Given the description of an element on the screen output the (x, y) to click on. 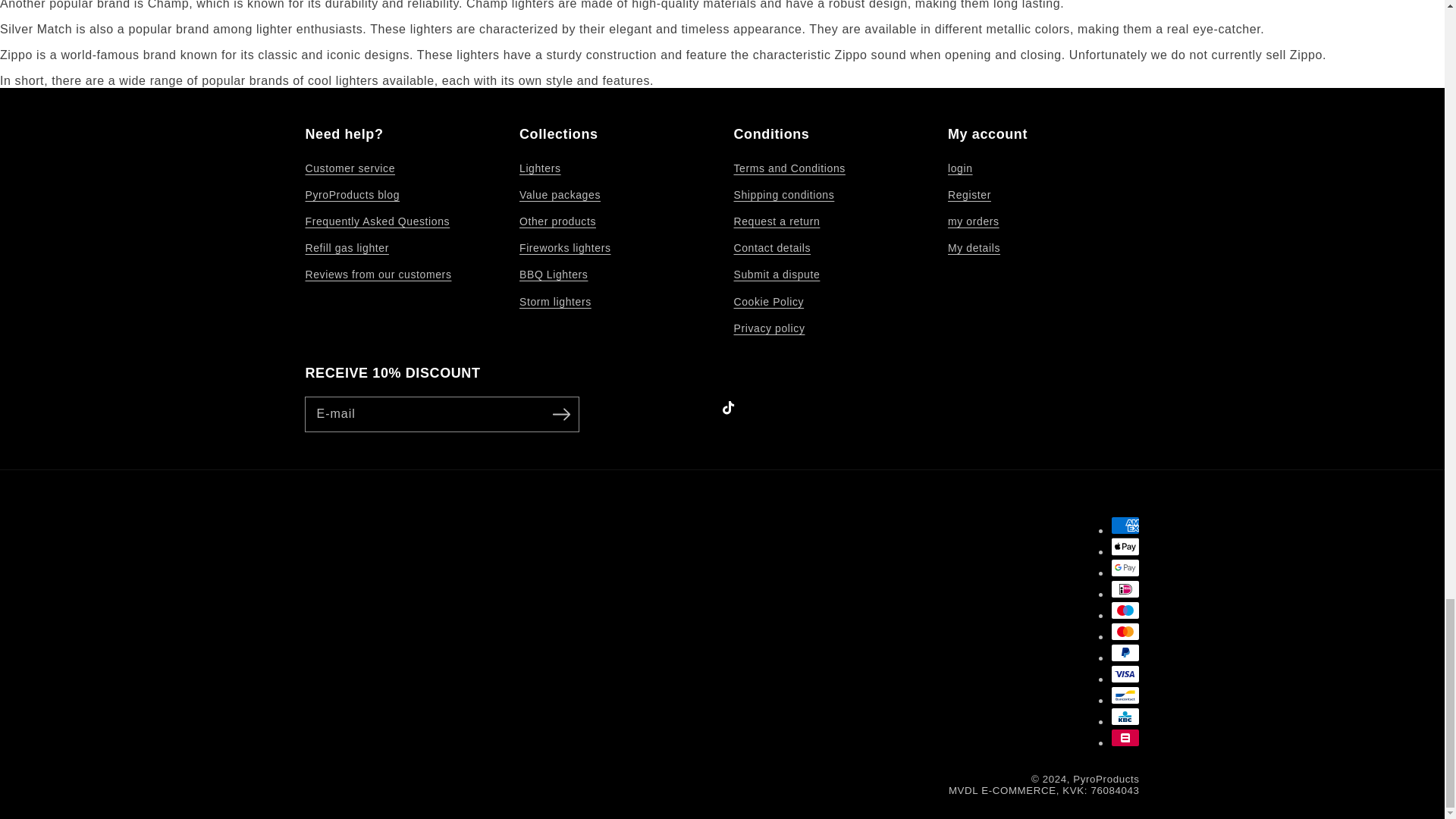
Maestro (1123, 610)
Mastercard (1123, 631)
Google Pay (1123, 567)
PayPal (1123, 652)
Apple Pay (1123, 546)
American Express (1123, 525)
Visa (1123, 674)
iDEAL (1123, 588)
